Given the description of an element on the screen output the (x, y) to click on. 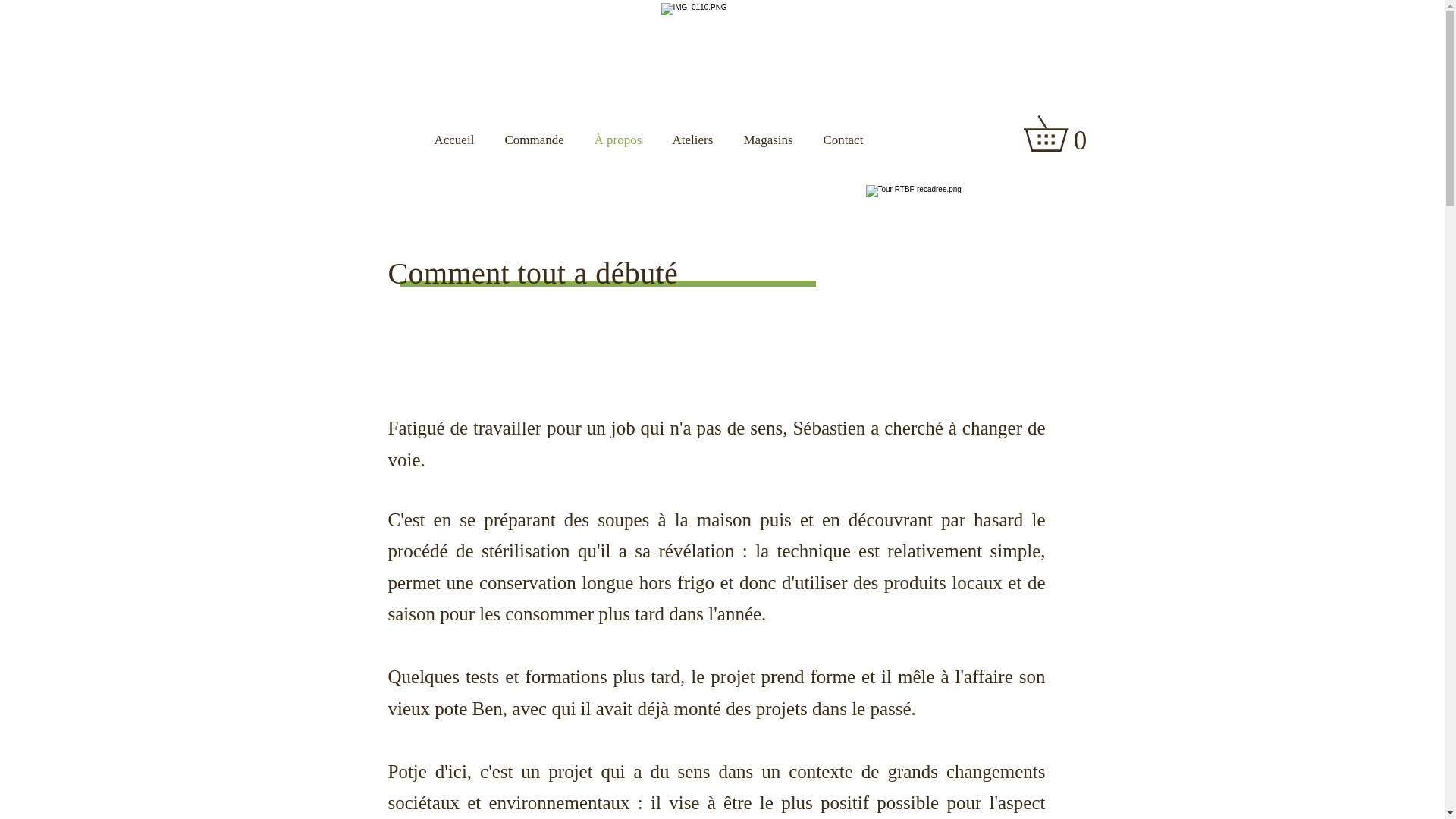
Commande Element type: text (534, 139)
Magasins Element type: text (767, 139)
Contact Element type: text (843, 139)
0 Element type: text (1062, 133)
Accueil Element type: text (453, 139)
Ateliers Element type: text (692, 139)
